Given the description of an element on the screen output the (x, y) to click on. 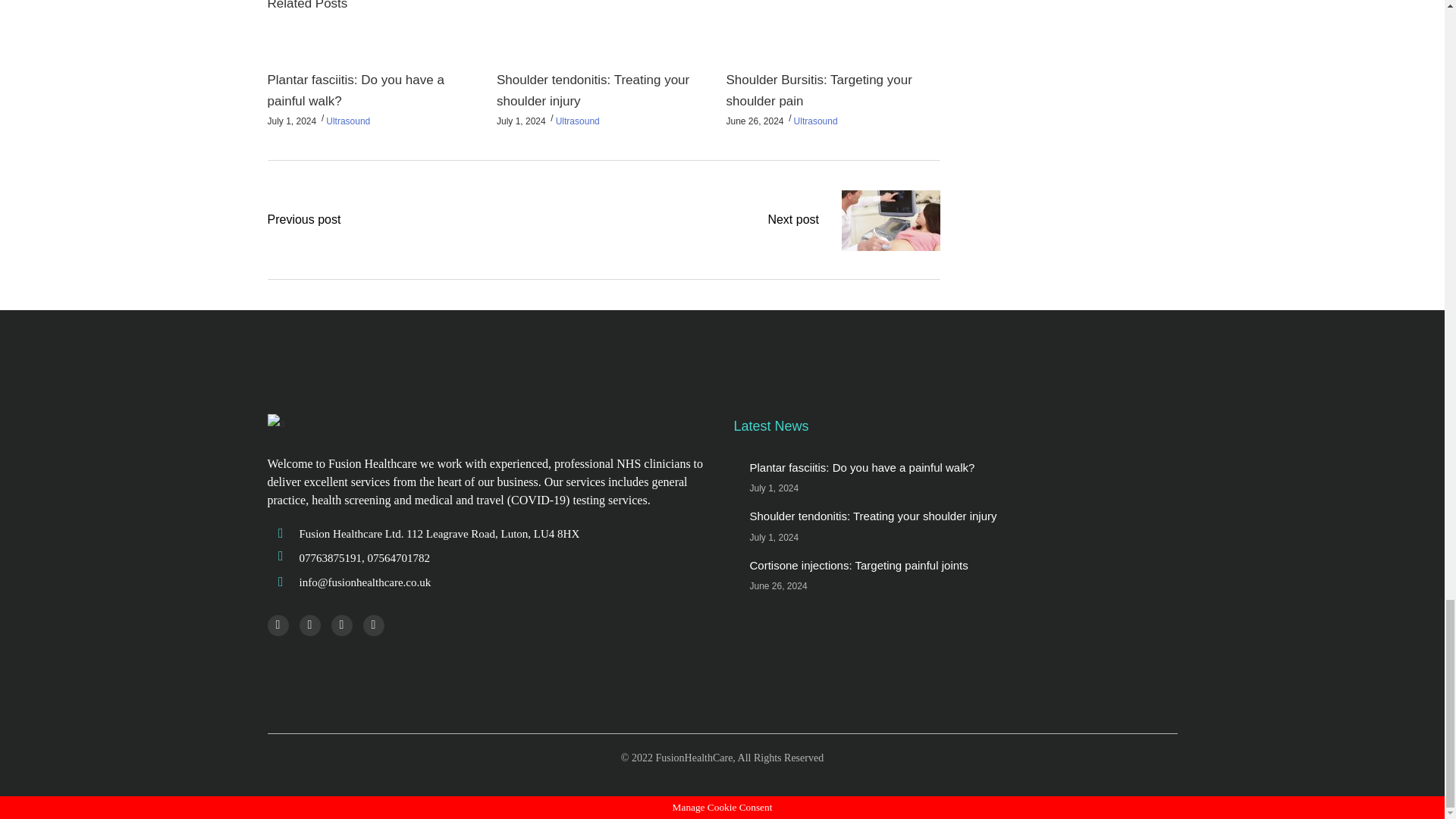
Shoulder tendonitis: Treating your shoulder injury (592, 90)
Plantar fasciitis: Do you have a painful walk? (355, 90)
Plantar fasciitis: Do you have a painful walk? (861, 467)
Shoulder Bursitis: Targeting your shoulder pain (818, 90)
